Given the description of an element on the screen output the (x, y) to click on. 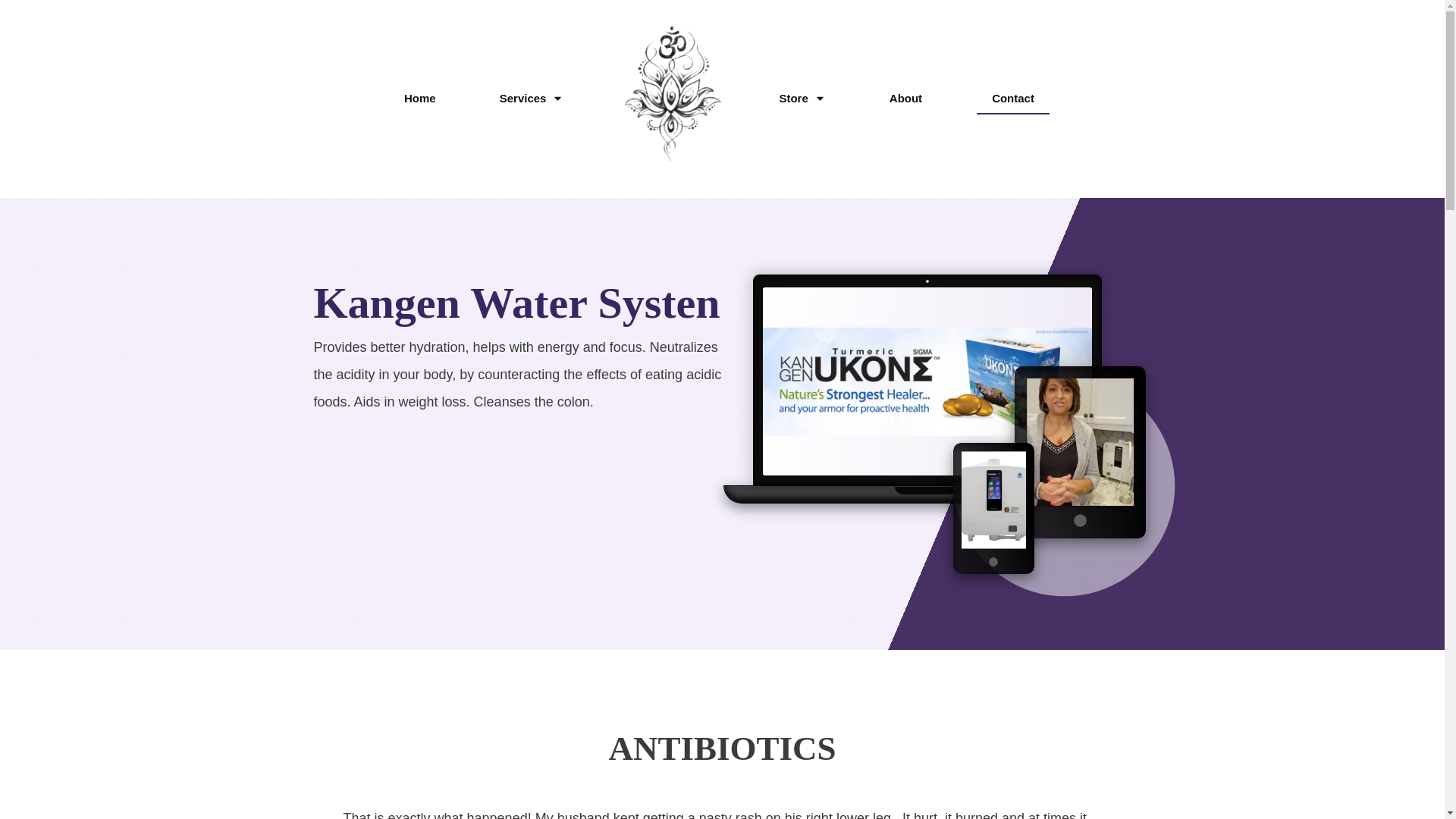
About (905, 97)
Services (531, 97)
Home (419, 97)
Contact (1012, 97)
Store (801, 97)
